Given the description of an element on the screen output the (x, y) to click on. 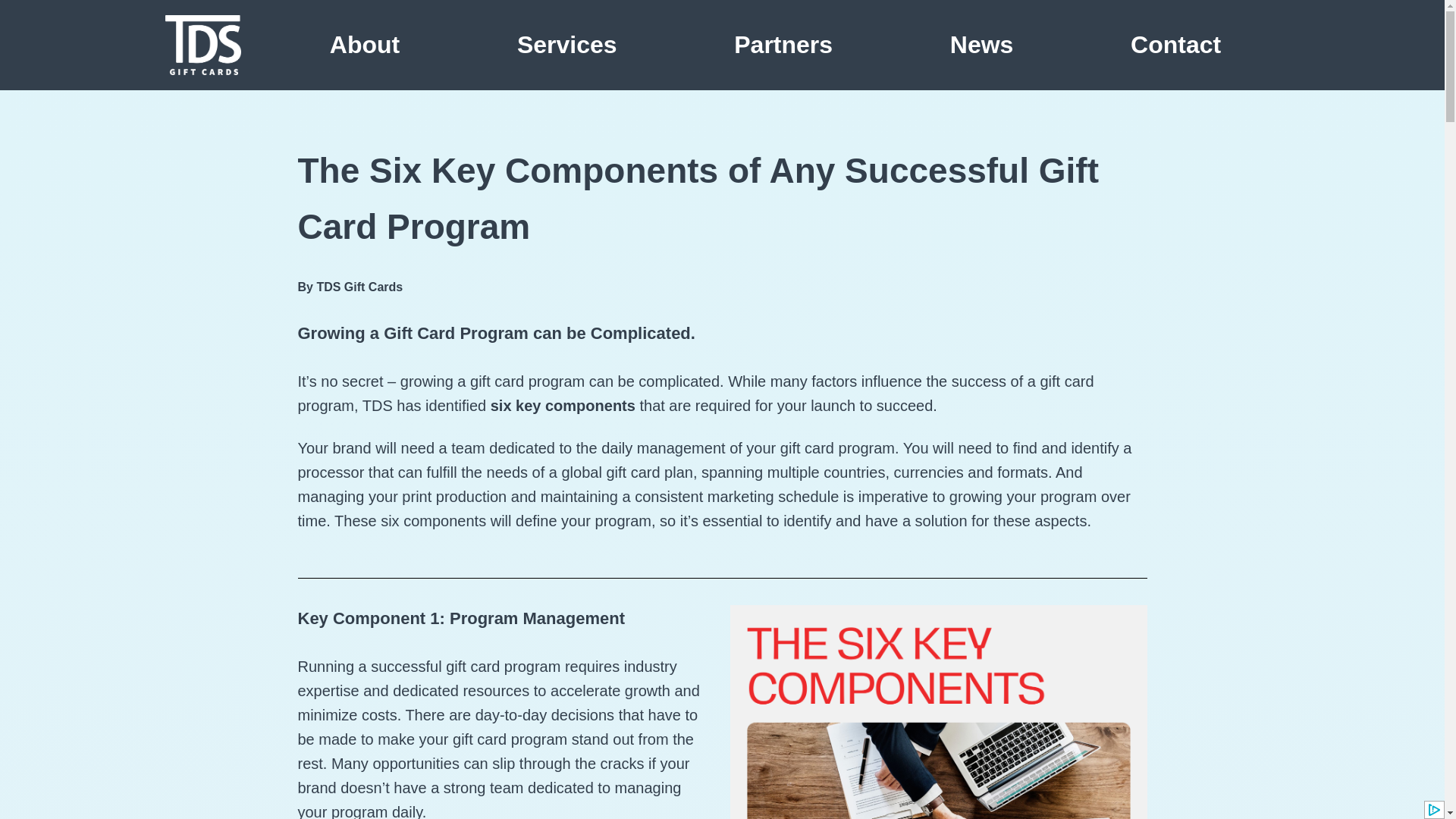
Contact (1175, 44)
News (981, 44)
Skip to content (11, 31)
Partners (783, 44)
Services (566, 44)
About (364, 44)
